Given the description of an element on the screen output the (x, y) to click on. 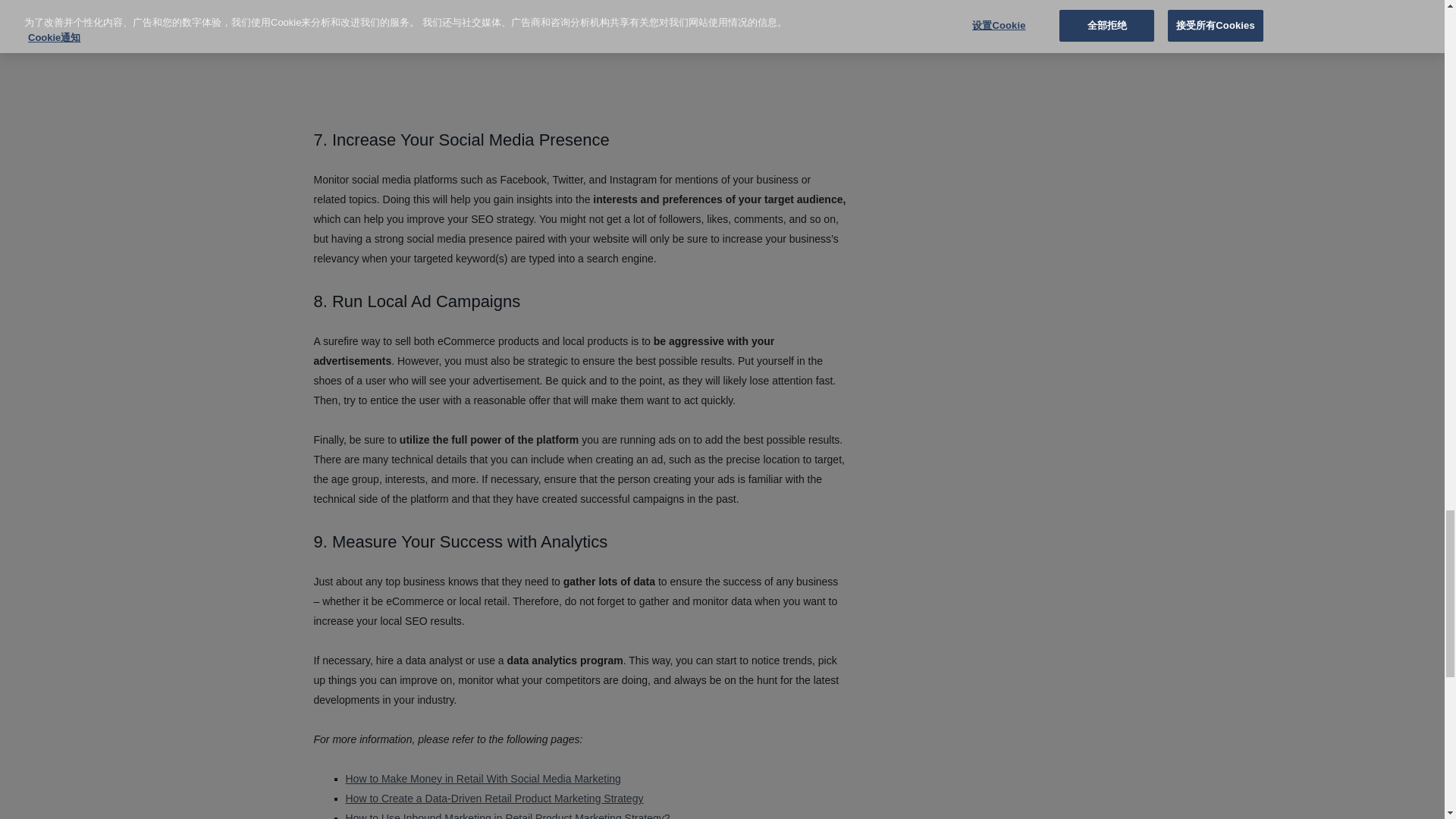
How to Make Money in Retail With Social Media Marketing (483, 778)
